Given the description of an element on the screen output the (x, y) to click on. 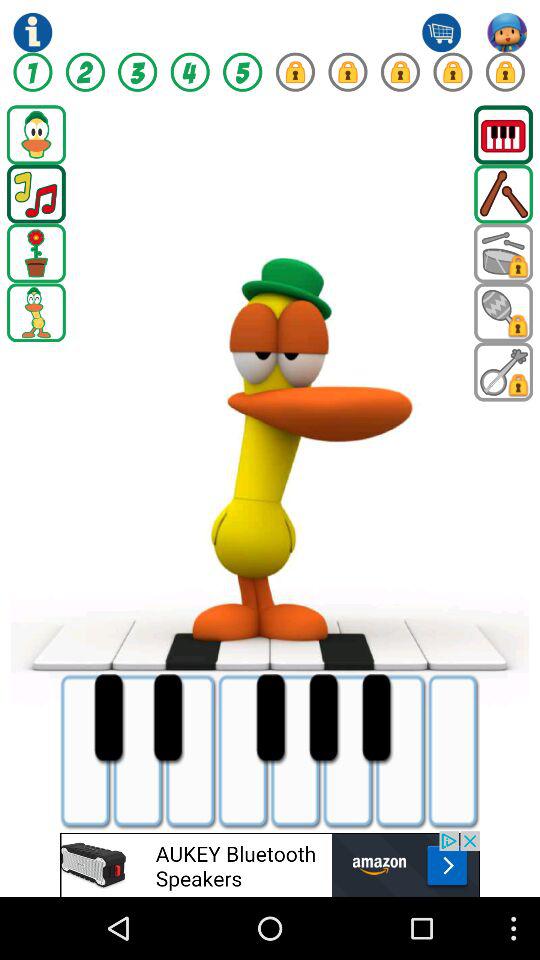
games (190, 71)
